Given the description of an element on the screen output the (x, y) to click on. 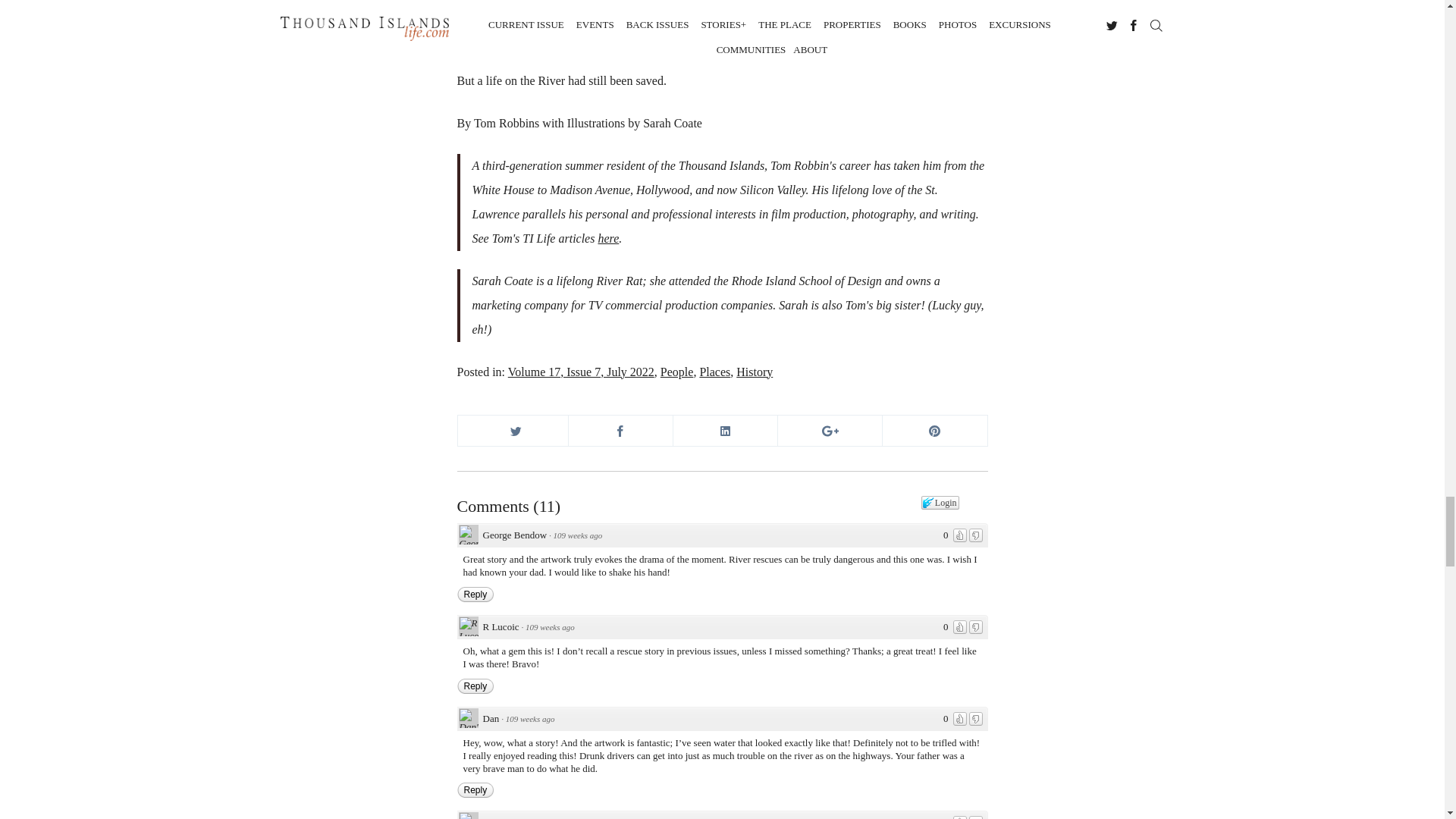
Comment Permalink (577, 534)
History (754, 371)
here (607, 237)
Share on LinkedIn (724, 430)
People (677, 371)
Volume 17, Issue 7, July 2022 (580, 371)
Places (714, 371)
Comment Permalink (529, 718)
Login (940, 502)
Share on Facebook (620, 430)
